Given the description of an element on the screen output the (x, y) to click on. 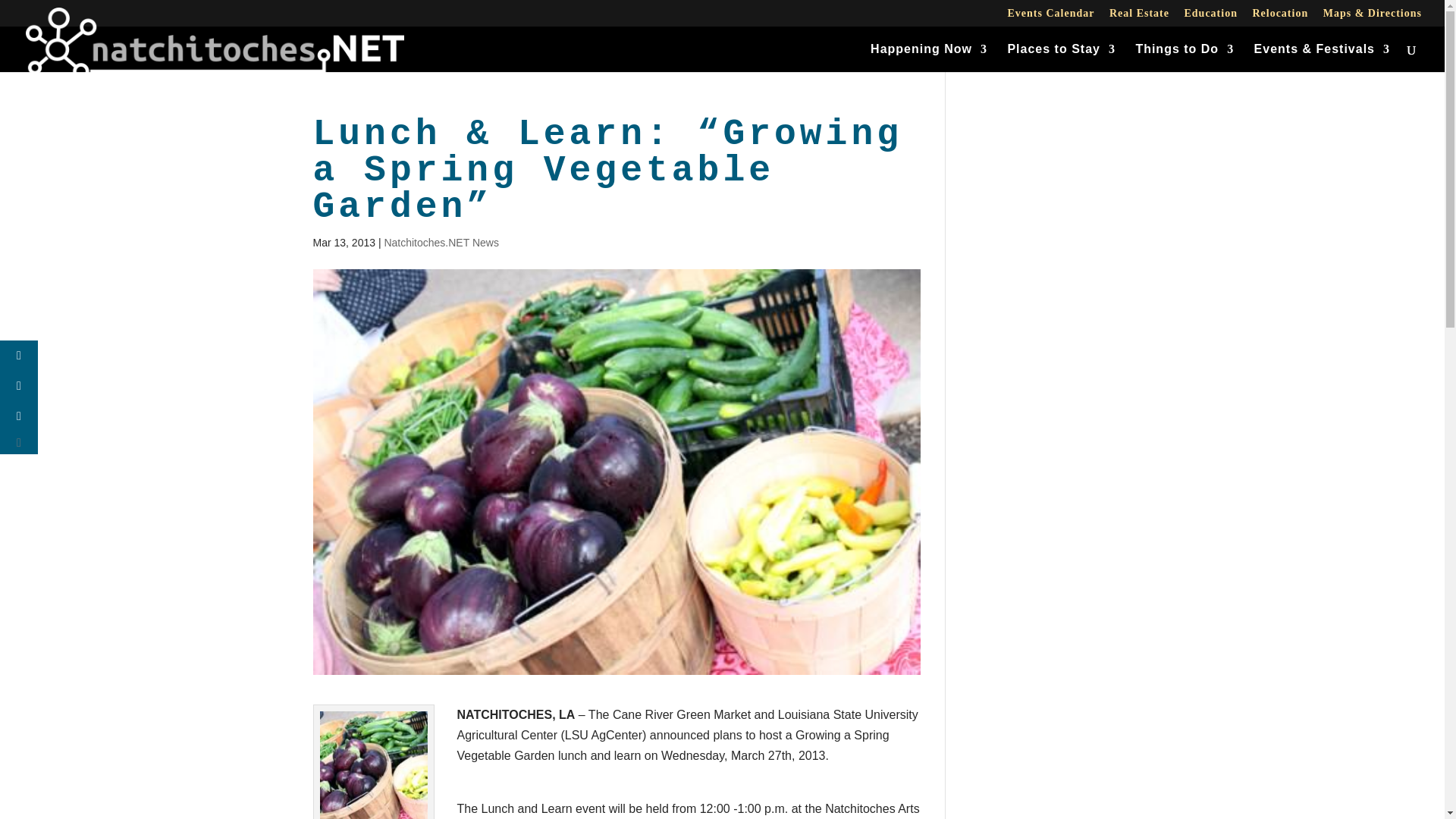
Education in Natchitoches Parish (1209, 16)
Real Estate (1139, 16)
Events Calendar (1050, 16)
Natchitoches Real Estate (1139, 16)
Things to Do in Natchitoches Parish (1184, 58)
Happening Now in Natchitoches, Louisiana (928, 58)
Happening Now (928, 58)
Things to Do (1184, 58)
Relocation (1279, 16)
Education (1209, 16)
